Given the description of an element on the screen output the (x, y) to click on. 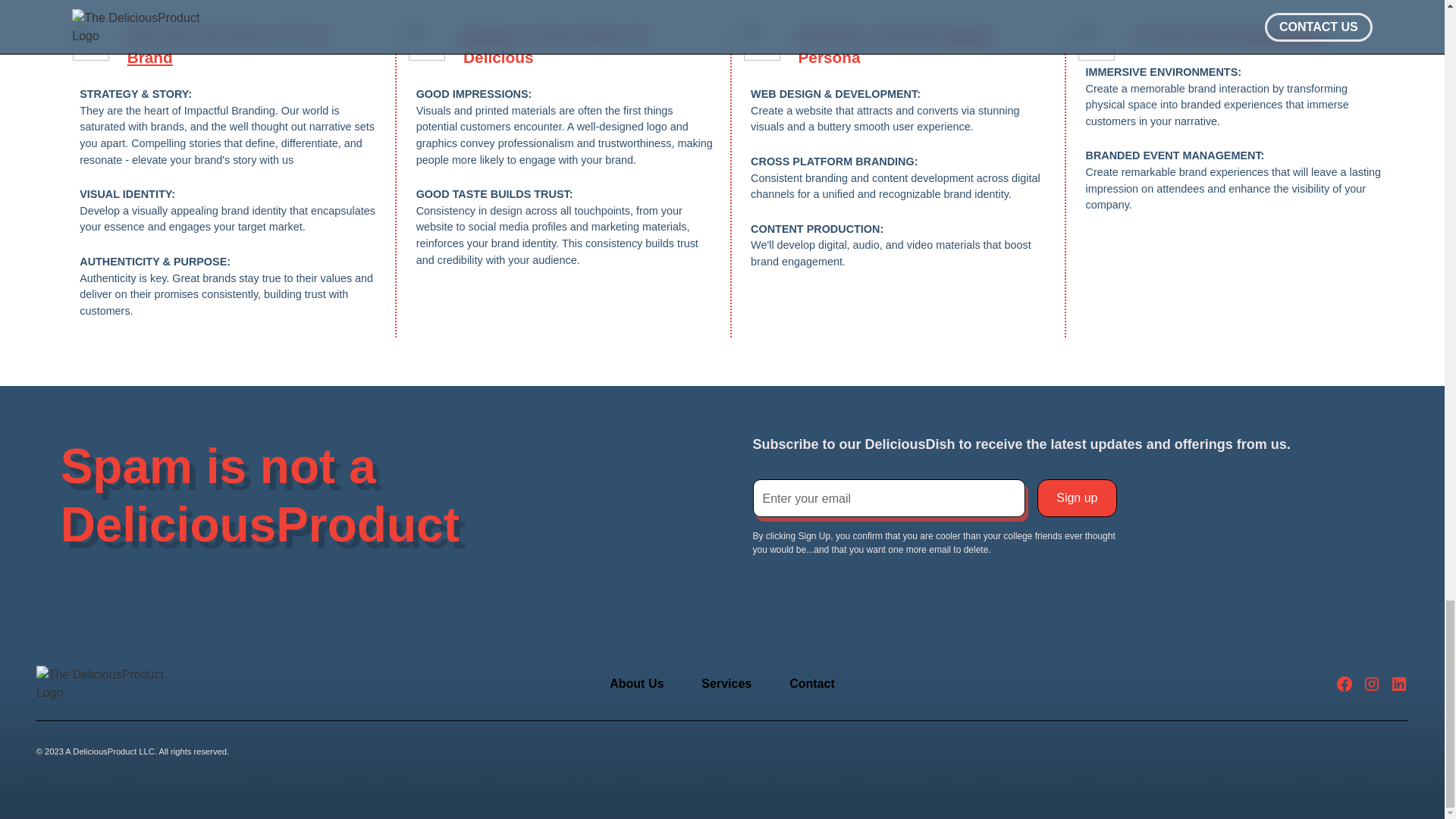
Sign up (1076, 497)
Services (726, 683)
Contact (811, 683)
About Us (635, 683)
Sign up (1076, 497)
